Given the description of an element on the screen output the (x, y) to click on. 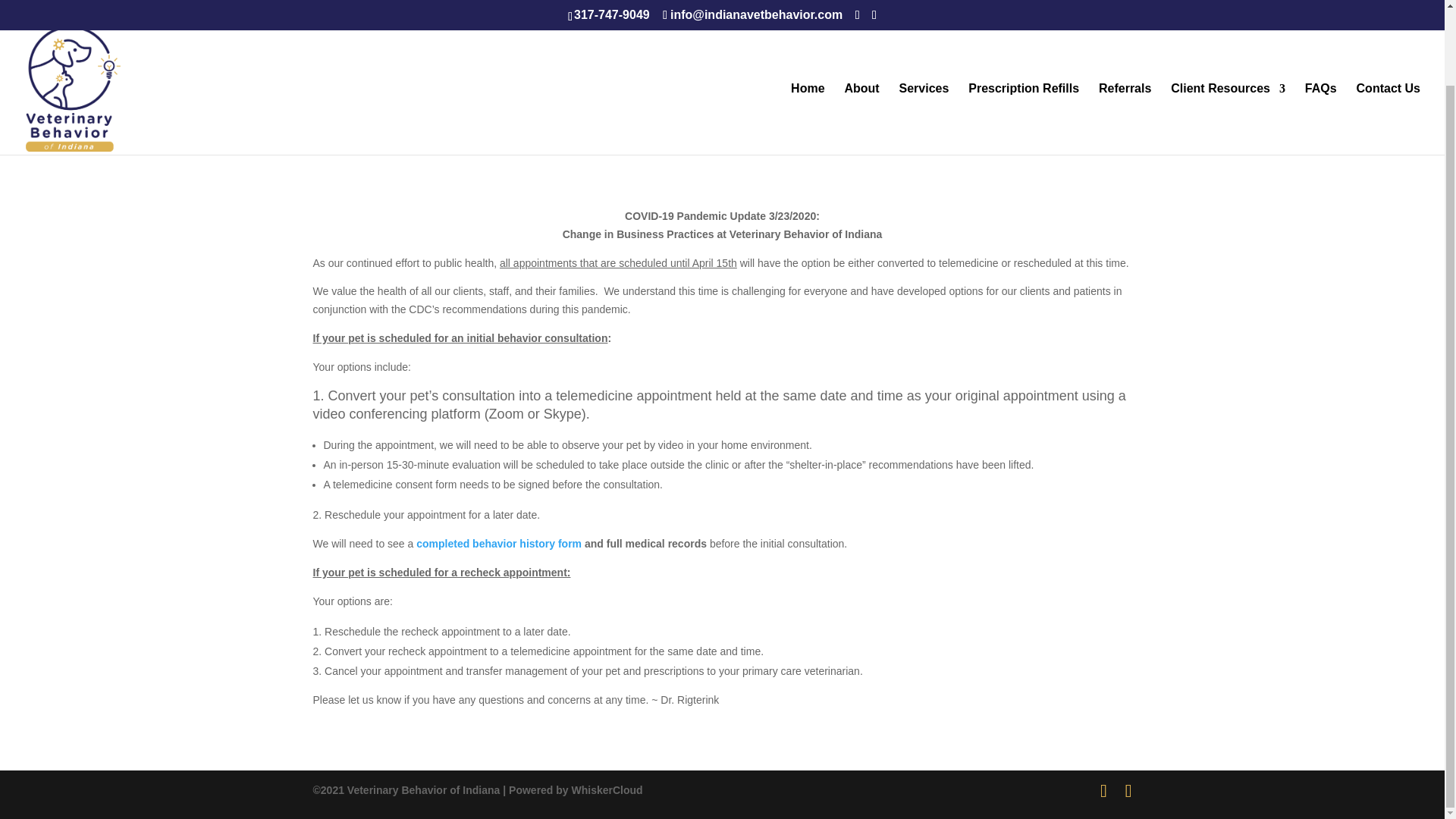
Client Resources (1227, 35)
completed behavior history form (498, 543)
Contact Us (1388, 35)
Prescription Refills (1023, 35)
Powered by WhiskerCloud (575, 789)
